Given the description of an element on the screen output the (x, y) to click on. 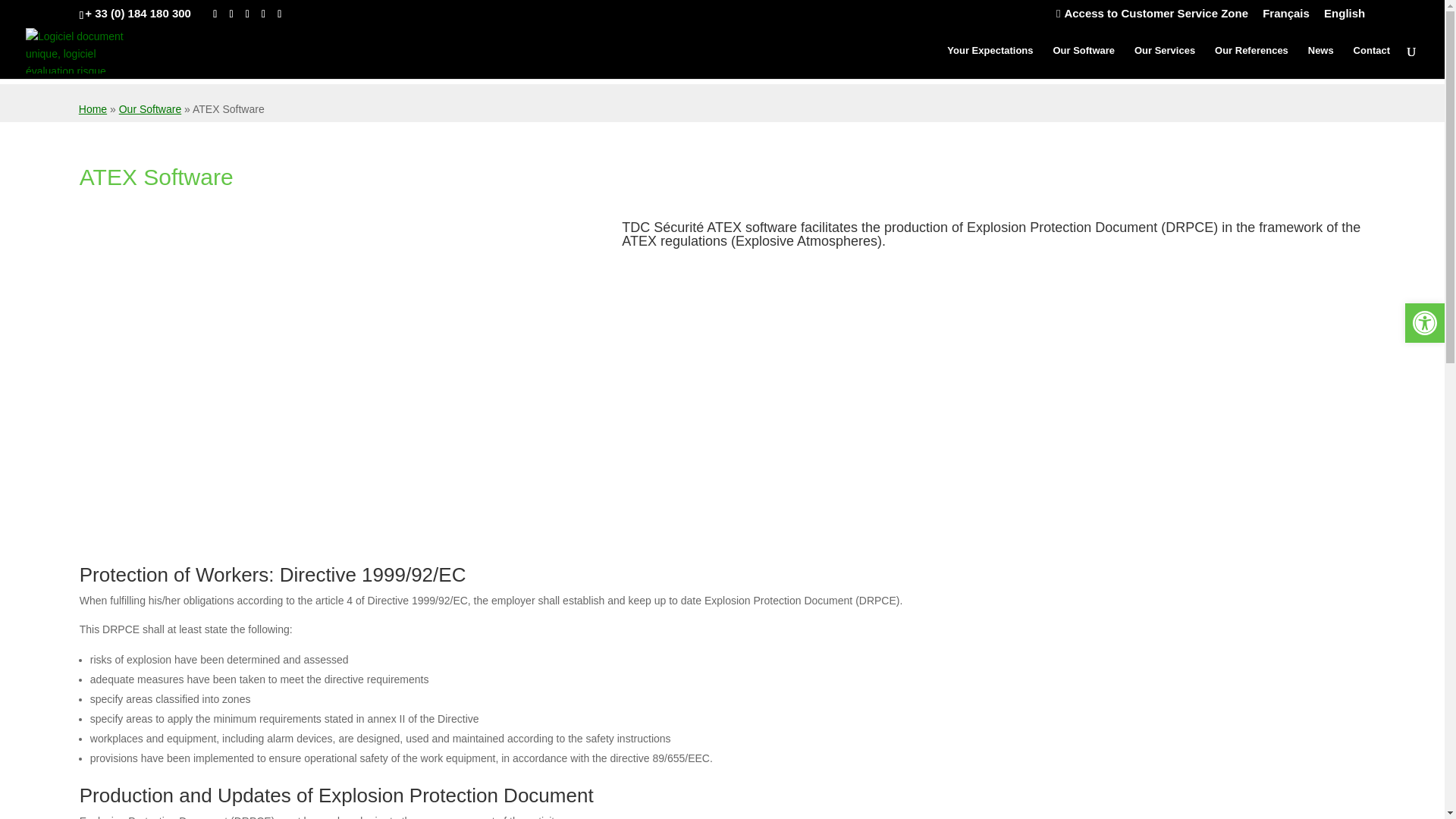
Our Services (1164, 61)
English (1344, 17)
Home (92, 109)
Access to Customer Service Zone (1152, 17)
Our References (1251, 61)
Our Software (149, 109)
Our Software (1083, 61)
Your Expectations (989, 61)
Contact (1372, 61)
